Given the description of an element on the screen output the (x, y) to click on. 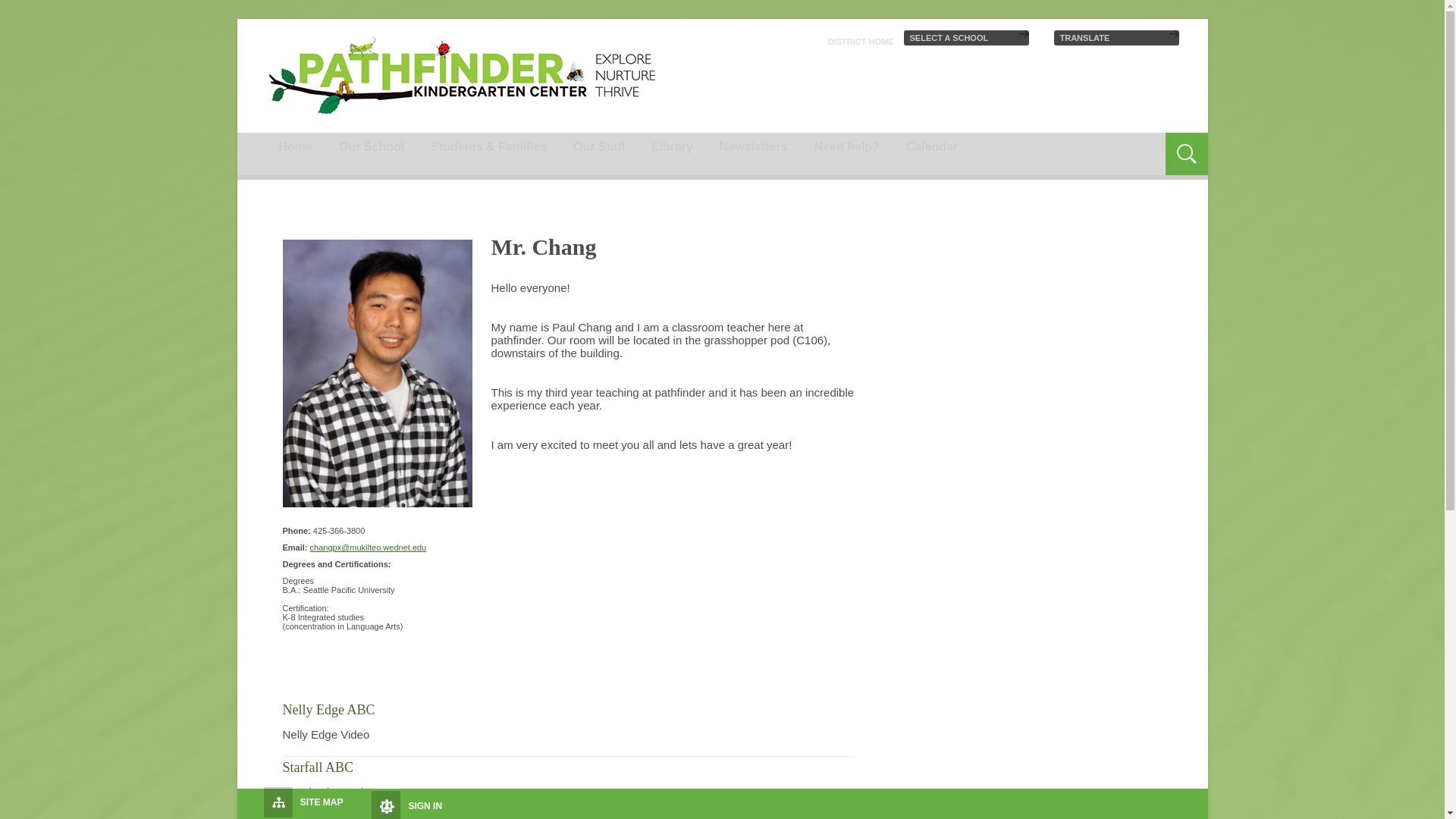
Our Staff (599, 147)
Our School (370, 147)
Pathfinder Kindergarten Center (462, 75)
Home (294, 147)
DISTRICT HOME (860, 41)
Search Term (1123, 143)
Return to the homepage on the district site. (860, 41)
Search this site (1123, 143)
